Given the description of an element on the screen output the (x, y) to click on. 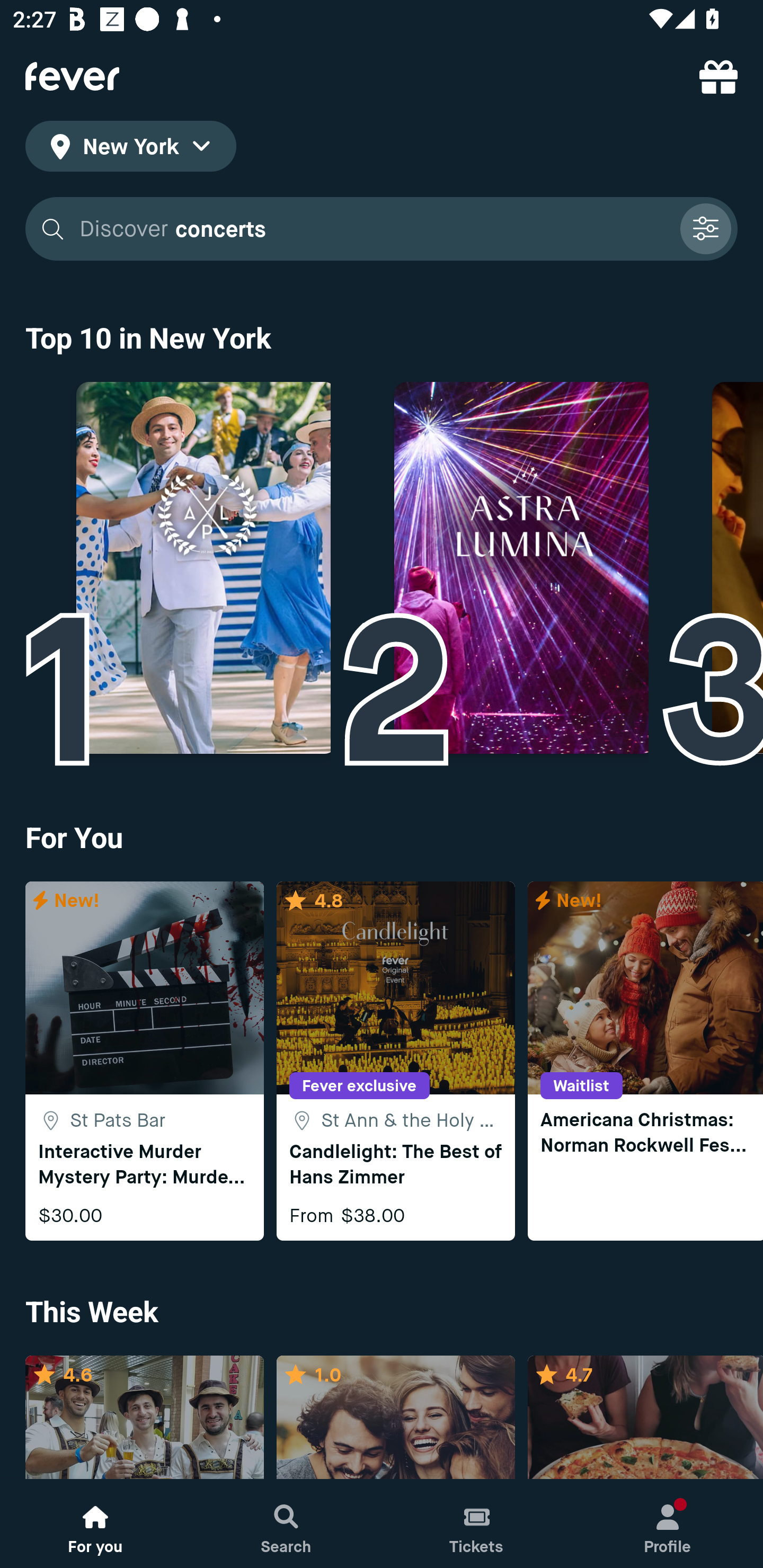
referral (718, 75)
location icon New York location icon (130, 149)
Discover concerts (381, 228)
Discover concerts (373, 228)
cover image 50.0 4.6 (144, 1417)
cover image 50.0 1.0 (395, 1417)
cover image 50.0 4.7 (645, 1417)
Search (285, 1523)
Tickets (476, 1523)
Profile, New notification Profile (667, 1523)
